Given the description of an element on the screen output the (x, y) to click on. 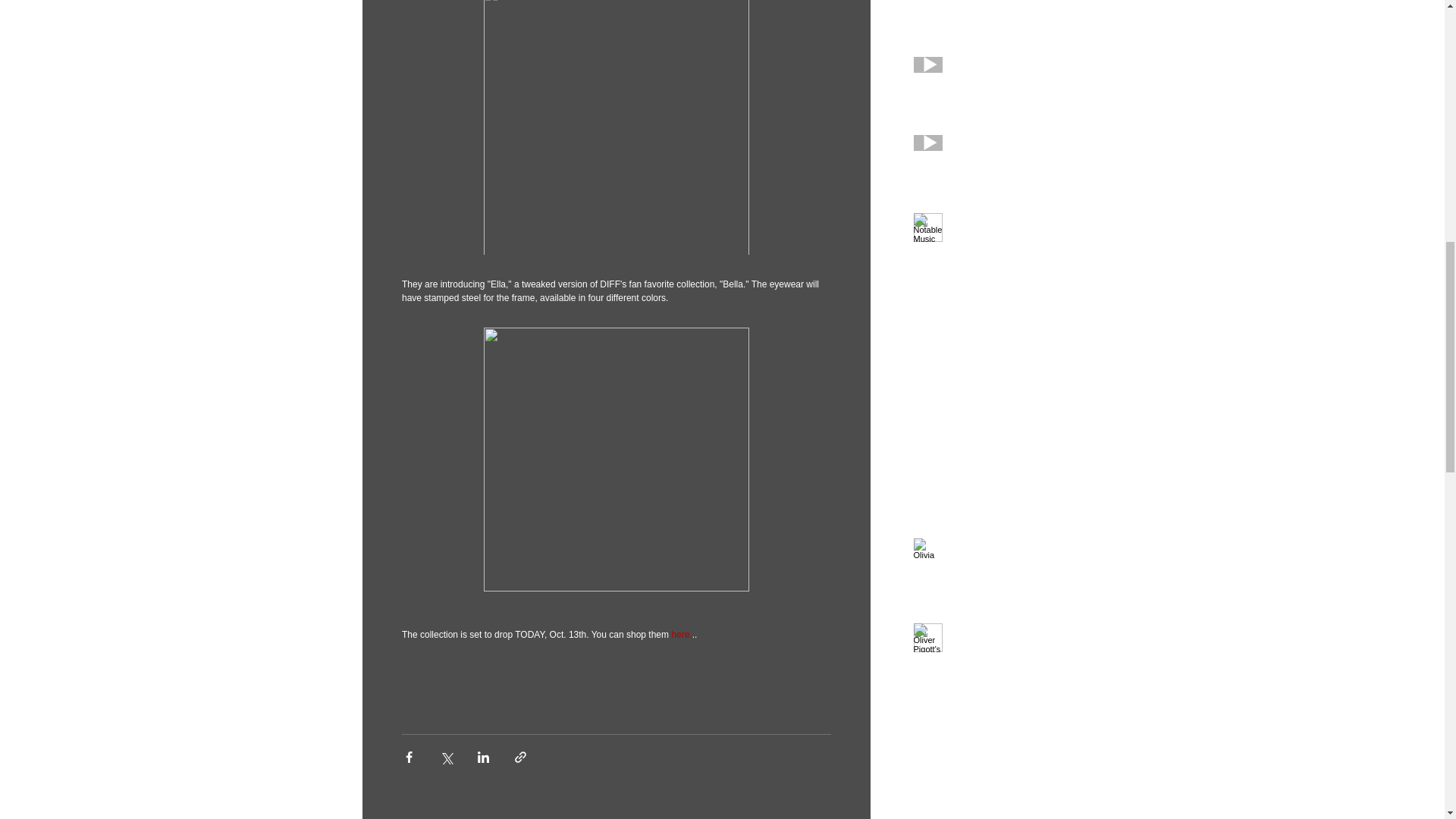
"Soldiers Promise" - A Nashville Gem (1006, 150)
Cody Howell is Taking us to the "High Life" (1006, 71)
Malachi Gagnon's wondering do "Think About Me" (1006, 0)
here. (681, 634)
